Given the description of an element on the screen output the (x, y) to click on. 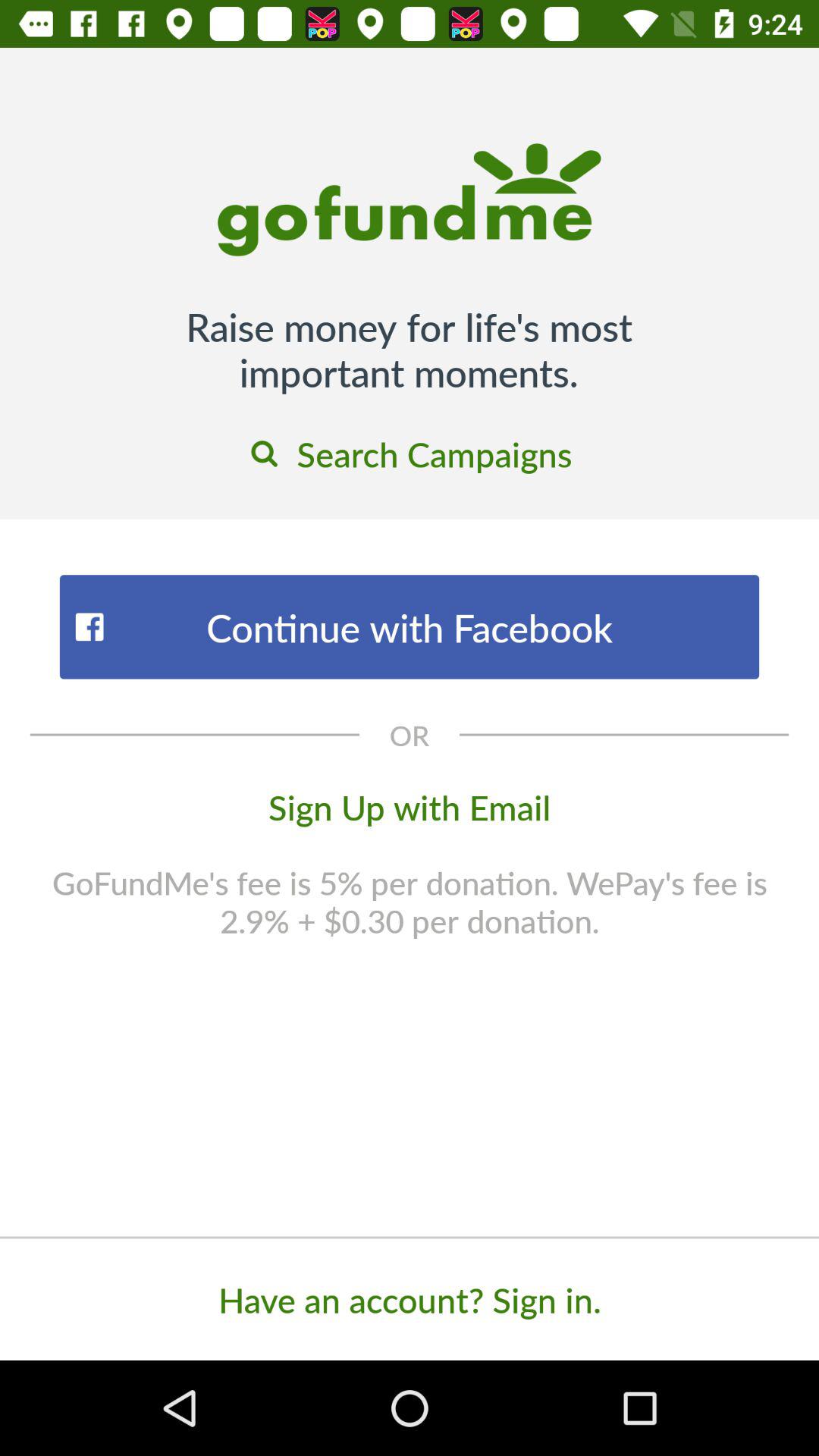
launch the icon below the search campaigns (409, 627)
